Given the description of an element on the screen output the (x, y) to click on. 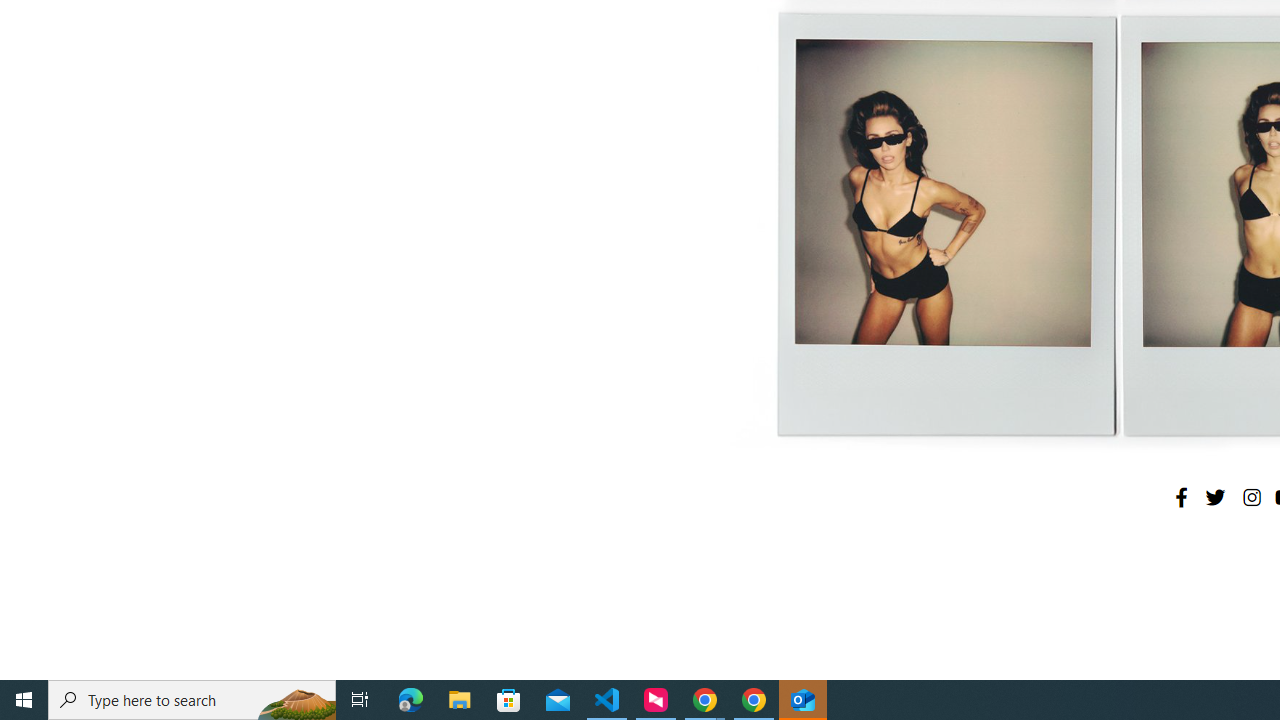
Facebook (1181, 497)
Instagram (1251, 497)
